Given the description of an element on the screen output the (x, y) to click on. 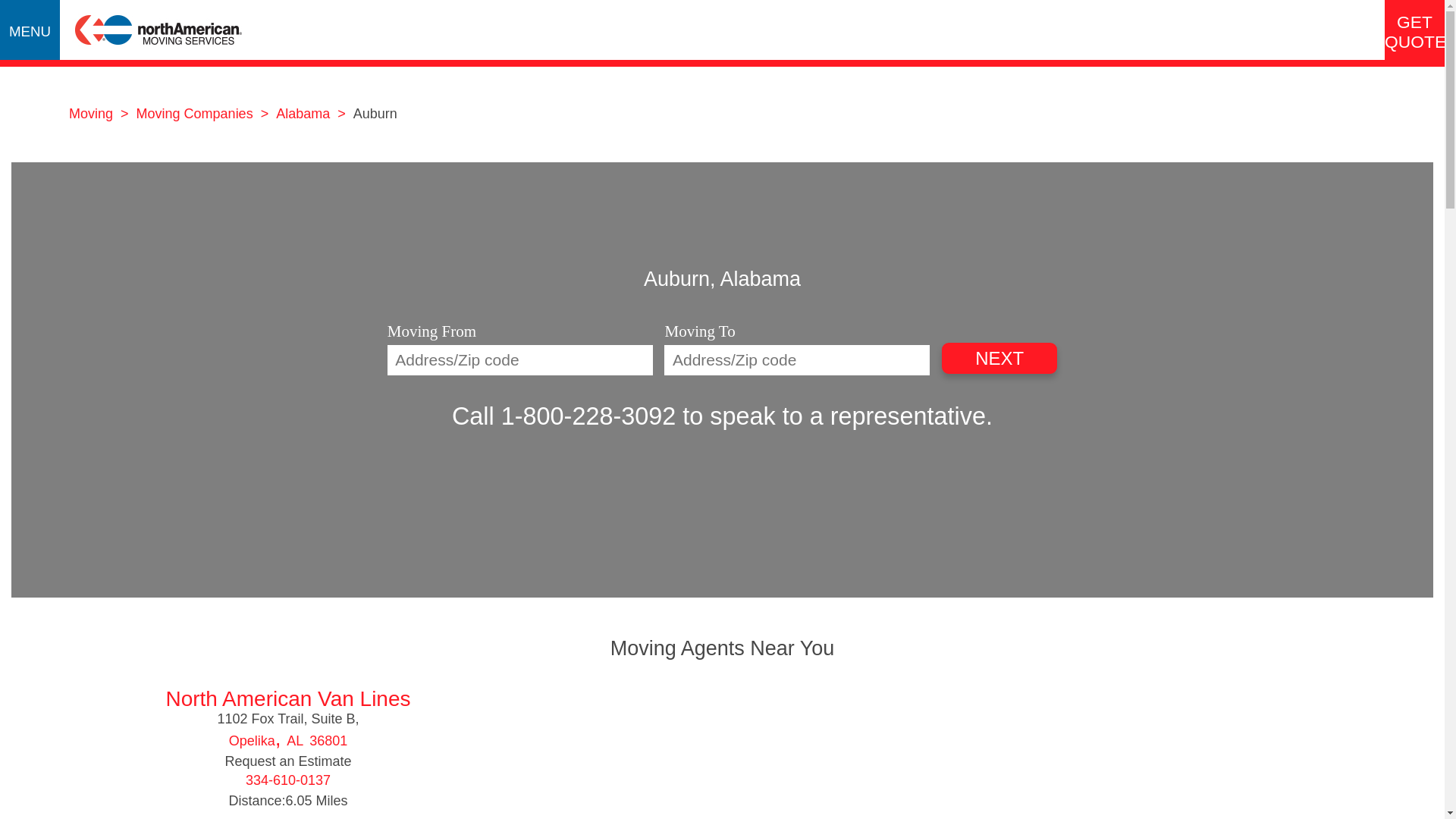
Call 1-800-228-3092 (563, 415)
Alabama (304, 113)
Call North American Van Lines to request an estimate (287, 780)
Opelika, AL 36801 (287, 739)
North American Moving Company (158, 55)
Moving Companies (196, 113)
334-610-0137 (287, 780)
Contact North American Van Lines to request an estimate (287, 761)
Contact North American Van Lines to request an estimate (287, 698)
North American Moving Company (158, 29)
